Given the description of an element on the screen output the (x, y) to click on. 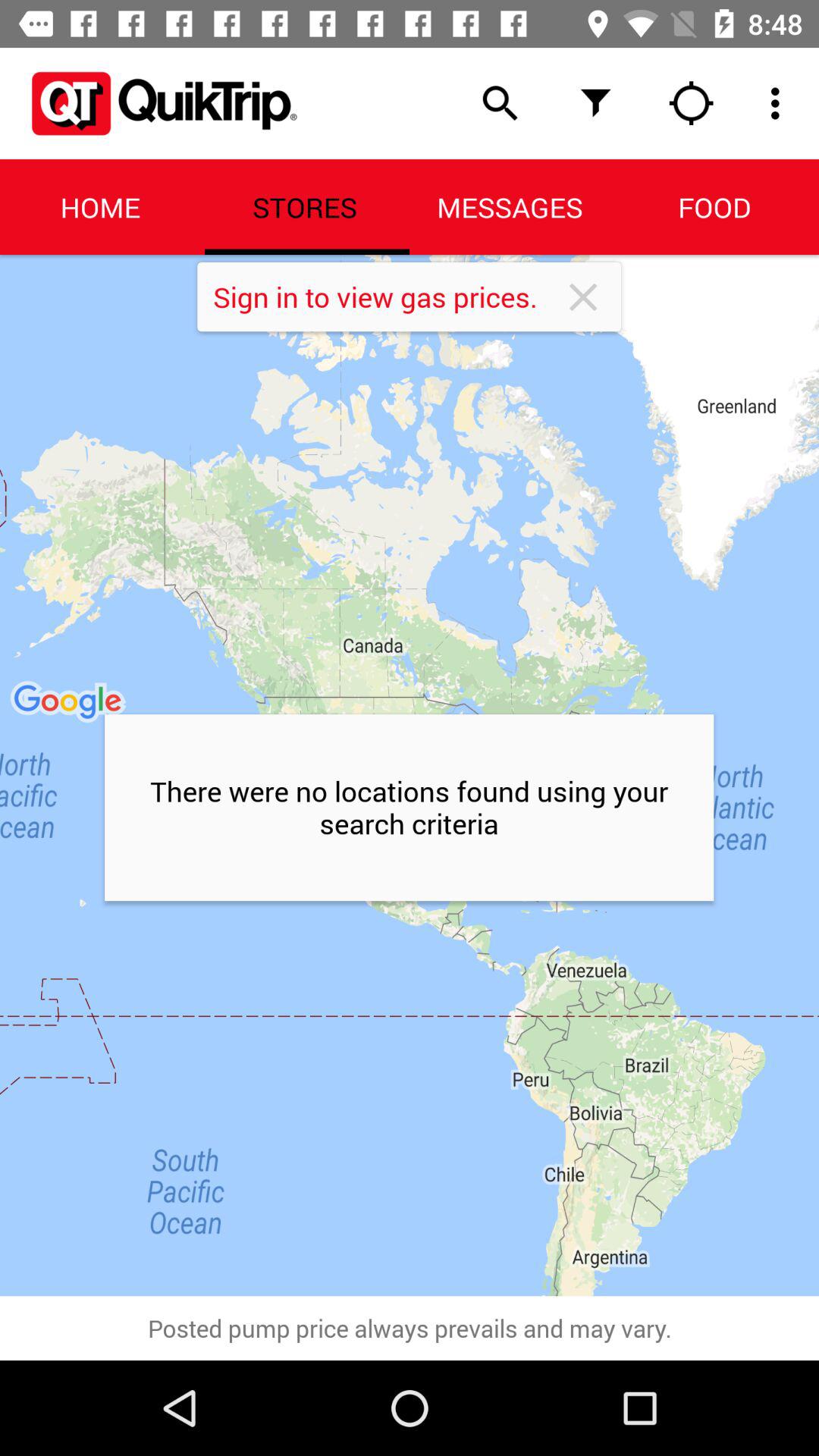
tap item below the stores (387, 296)
